Given the description of an element on the screen output the (x, y) to click on. 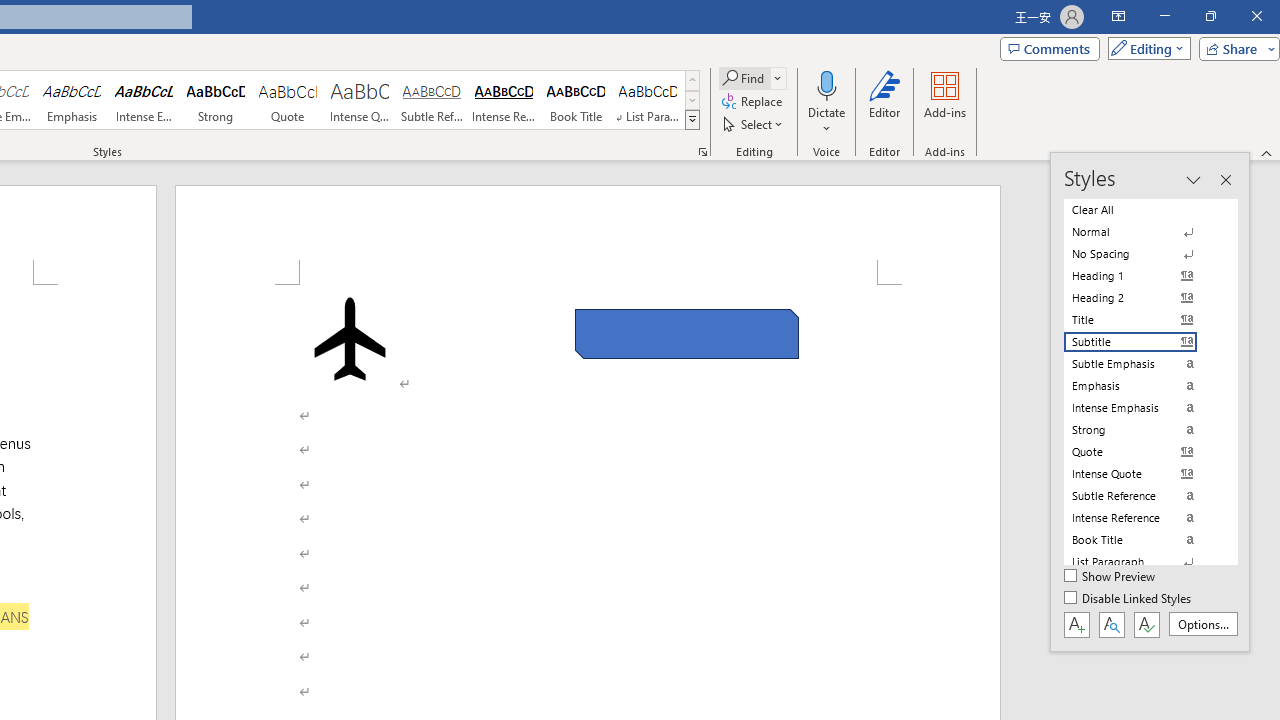
Emphasis (71, 100)
No Spacing (1142, 253)
Disable Linked Styles (1129, 599)
Quote (287, 100)
List Paragraph (1142, 561)
Intense Quote (359, 100)
